Given the description of an element on the screen output the (x, y) to click on. 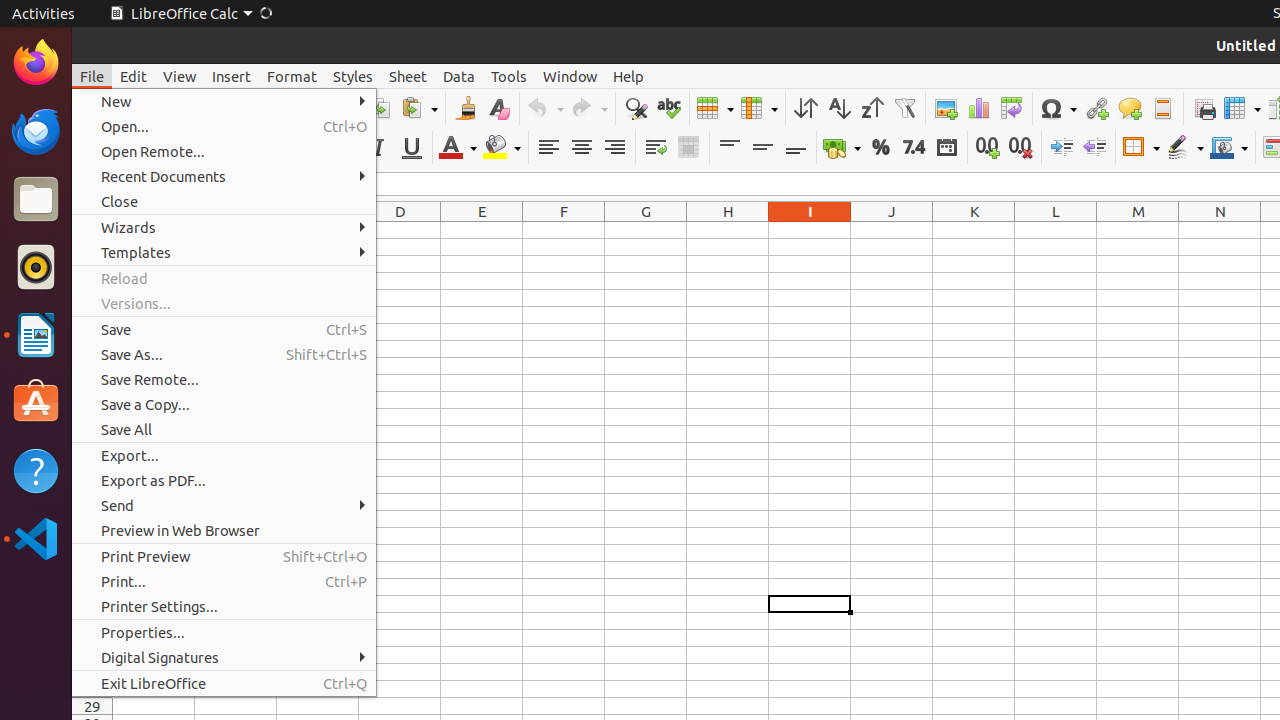
M1 Element type: table-cell (1138, 230)
Open Remote... Element type: menu-item (224, 151)
Data Element type: menu (459, 76)
Format Element type: menu (292, 76)
